Given the description of an element on the screen output the (x, y) to click on. 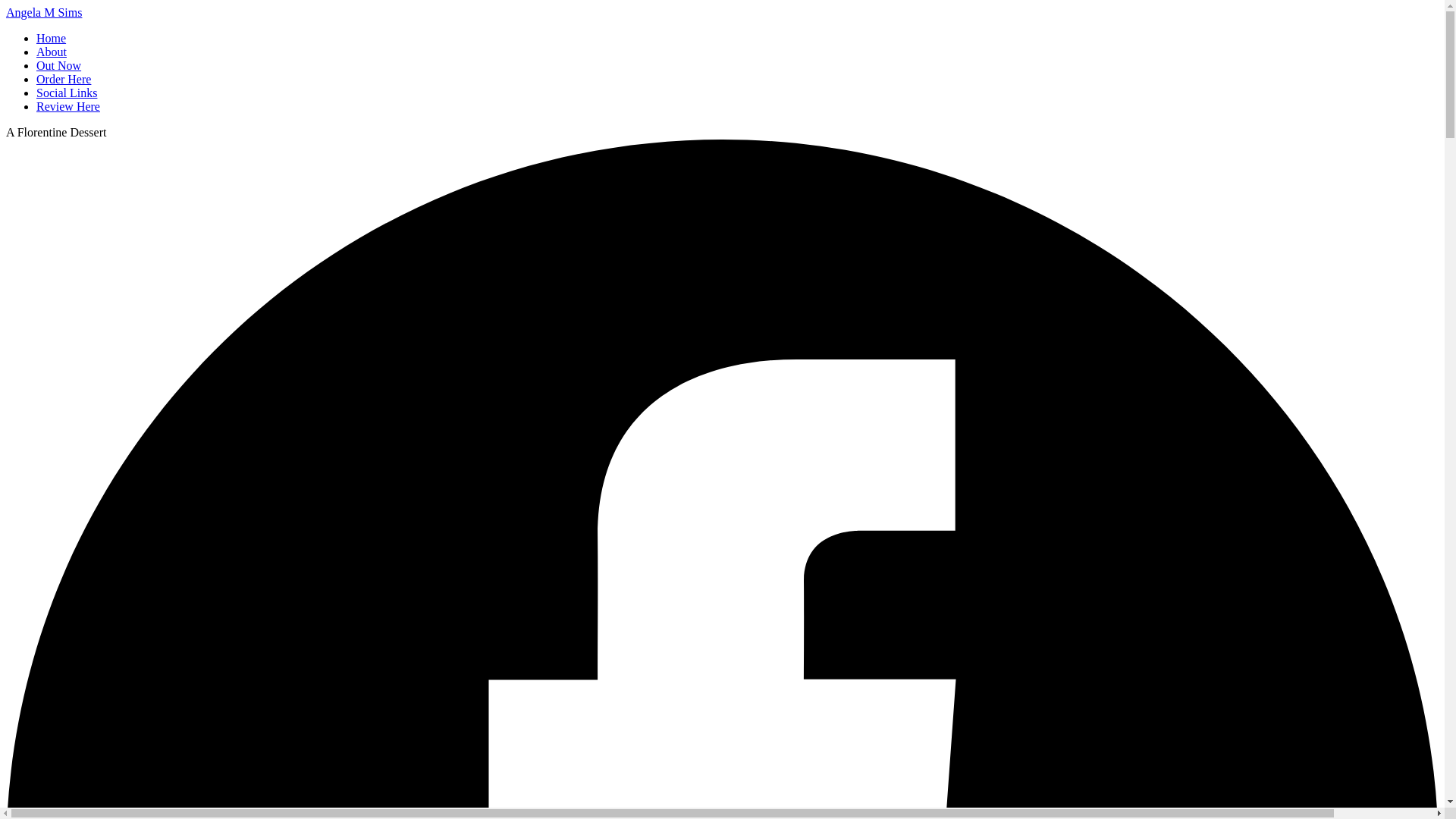
Order Here (63, 78)
Social Links (66, 92)
About (51, 51)
Out Now (58, 65)
Home (50, 38)
Angela M Sims (43, 11)
Review Here (68, 106)
